Given the description of an element on the screen output the (x, y) to click on. 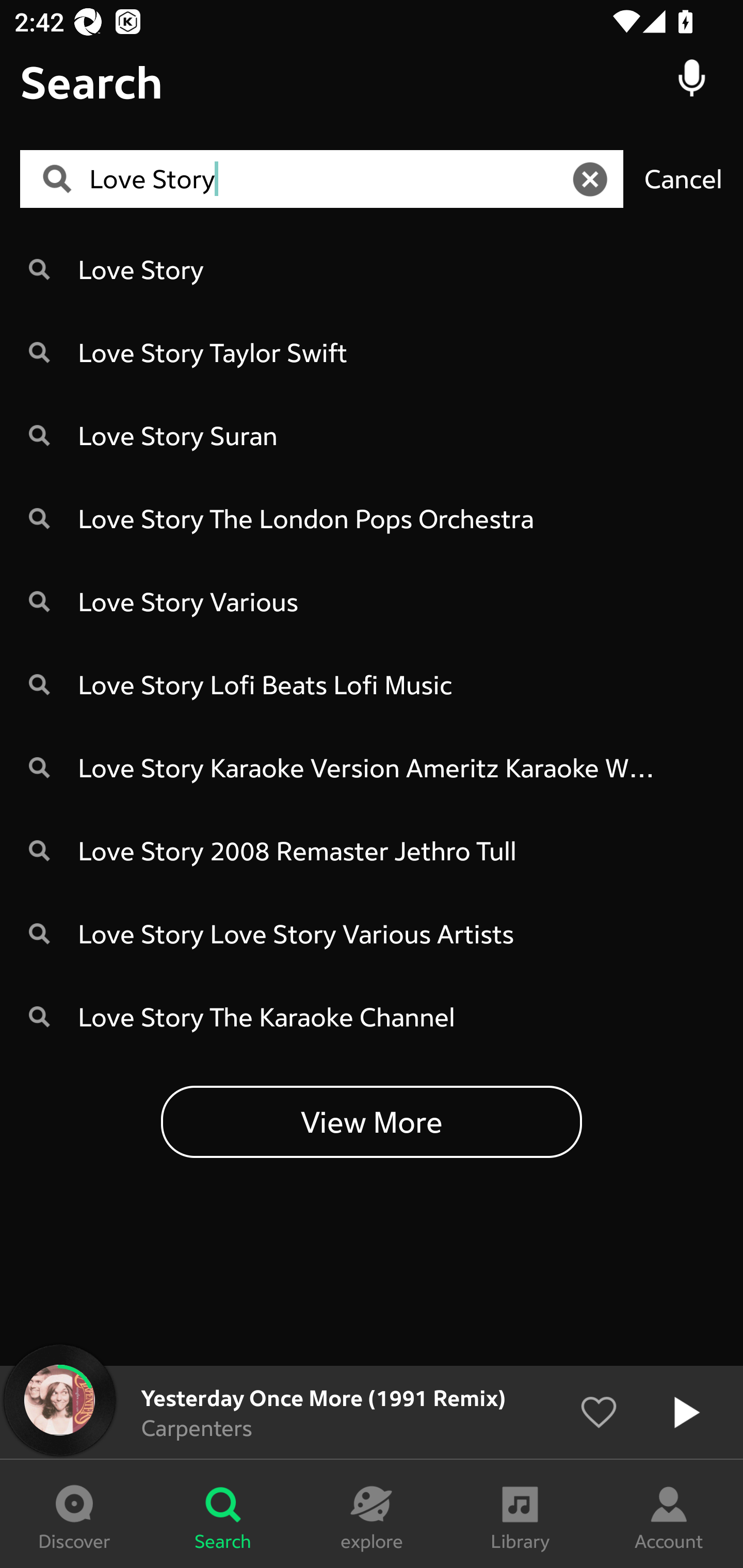
Cancel (683, 178)
Love Story (327, 179)
Love Story (371, 268)
Love Story Taylor Swift (371, 351)
Love Story Suran (371, 434)
Love Story The London Pops Orchestra (371, 517)
Love Story Various (371, 600)
Love Story Lofi Beats Lofi Music (371, 683)
Love Story 2008 Remaster Jethro Tull (371, 850)
Love Story Love Story Various Artists (371, 933)
Love Story The Karaoke Channel (371, 1016)
View More (371, 1121)
Yesterday Once More (1991 Remix) Carpenters (371, 1412)
Discover (74, 1513)
explore (371, 1513)
Library (519, 1513)
Account (668, 1513)
